Given the description of an element on the screen output the (x, y) to click on. 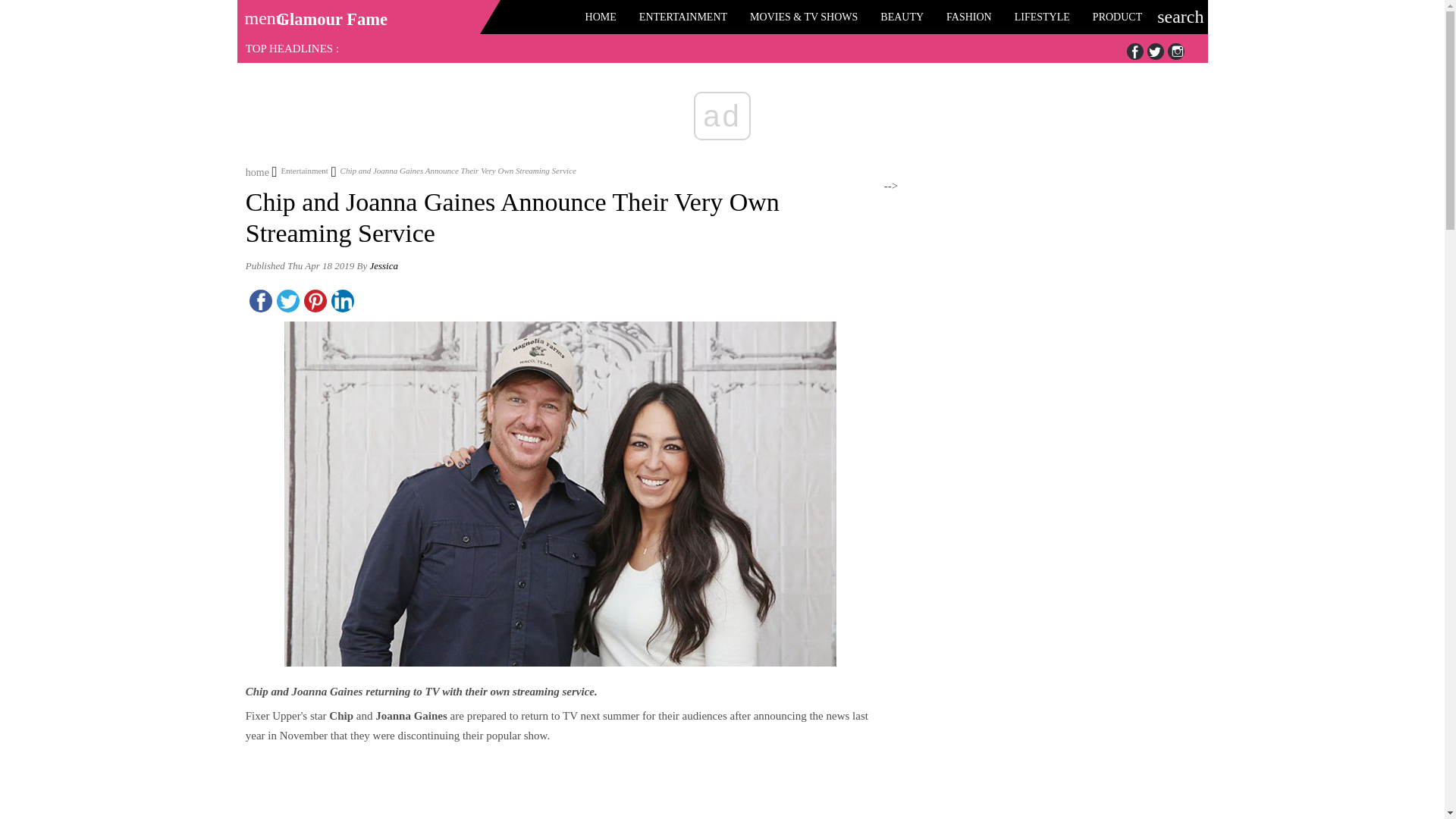
PRODUCT (1117, 17)
BEAUTY (901, 17)
home (257, 170)
HOME (600, 17)
LIFESTYLE (1042, 17)
menu (259, 13)
Glamour Fame (331, 18)
ENTERTAINMENT (682, 17)
Jessica (383, 265)
